Given the description of an element on the screen output the (x, y) to click on. 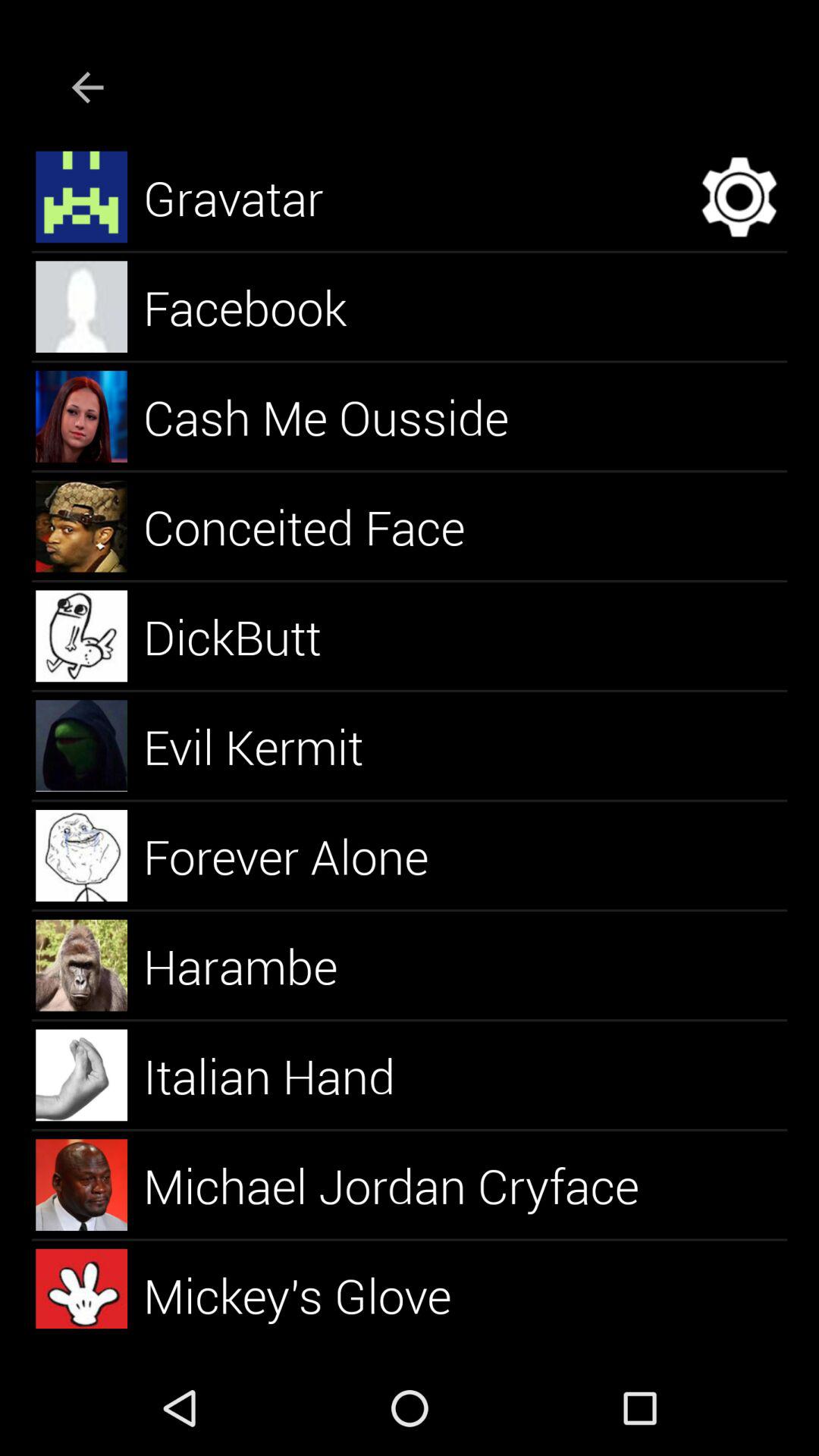
launch the evil kermit (271, 745)
